Given the description of an element on the screen output the (x, y) to click on. 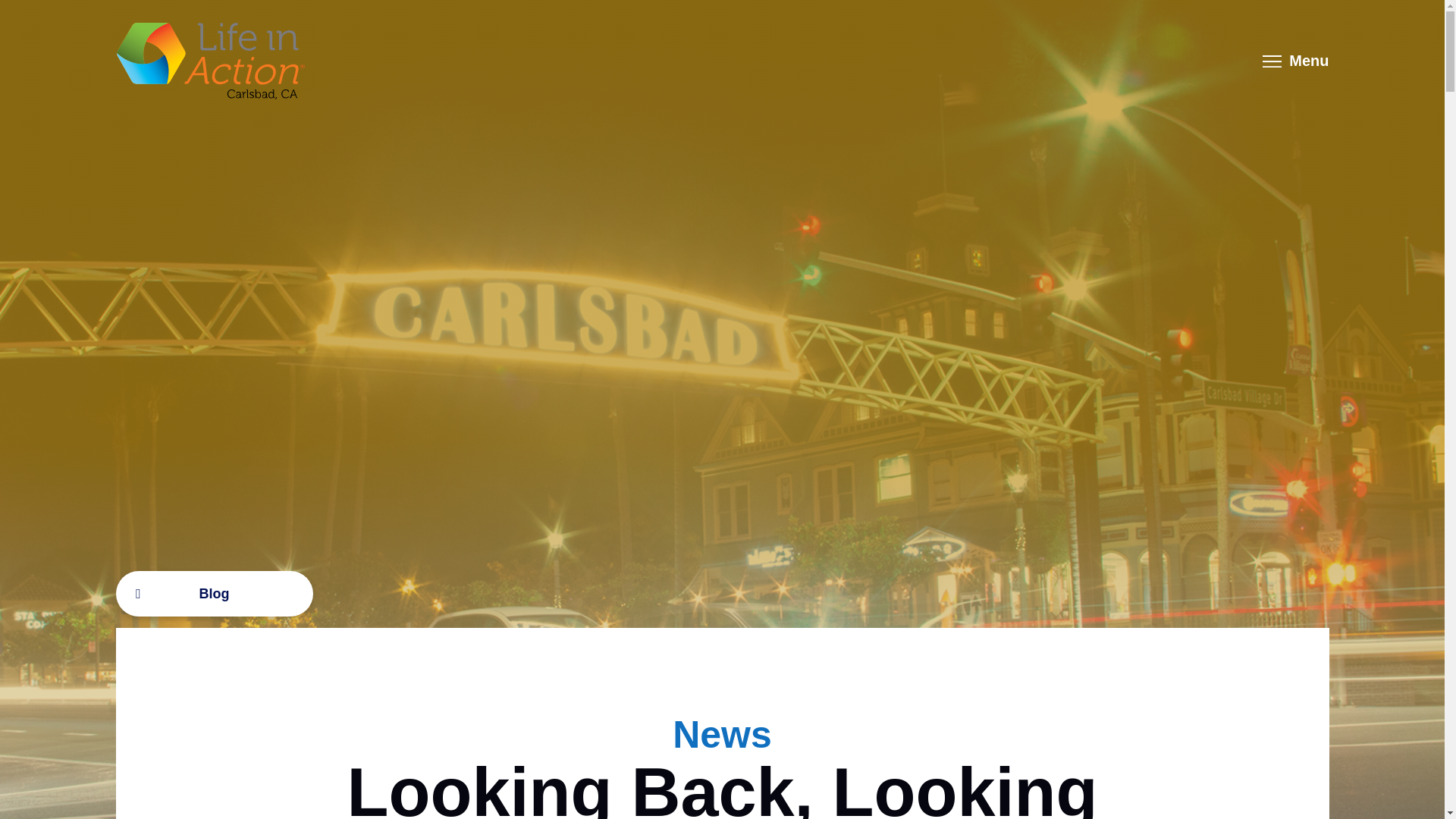
News (721, 735)
Blog (214, 593)
Menu (1294, 60)
